Given the description of an element on the screen output the (x, y) to click on. 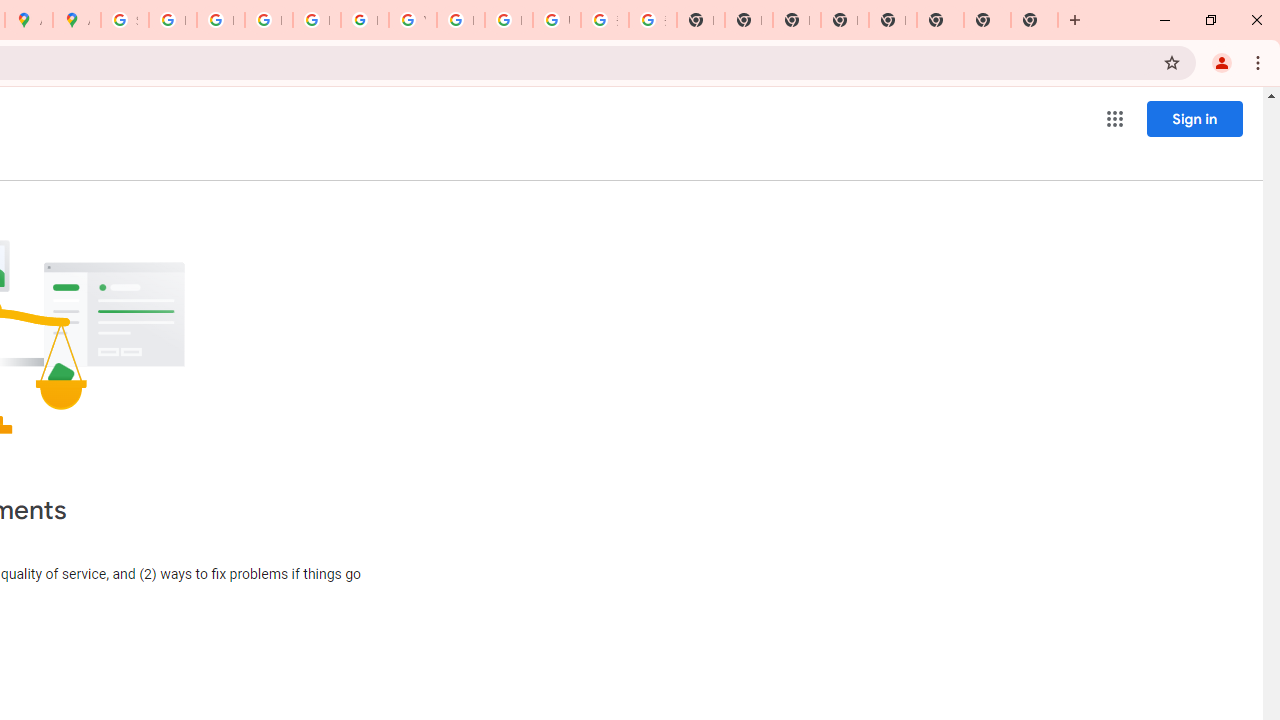
New Tab (892, 20)
YouTube (412, 20)
